Given the description of an element on the screen output the (x, y) to click on. 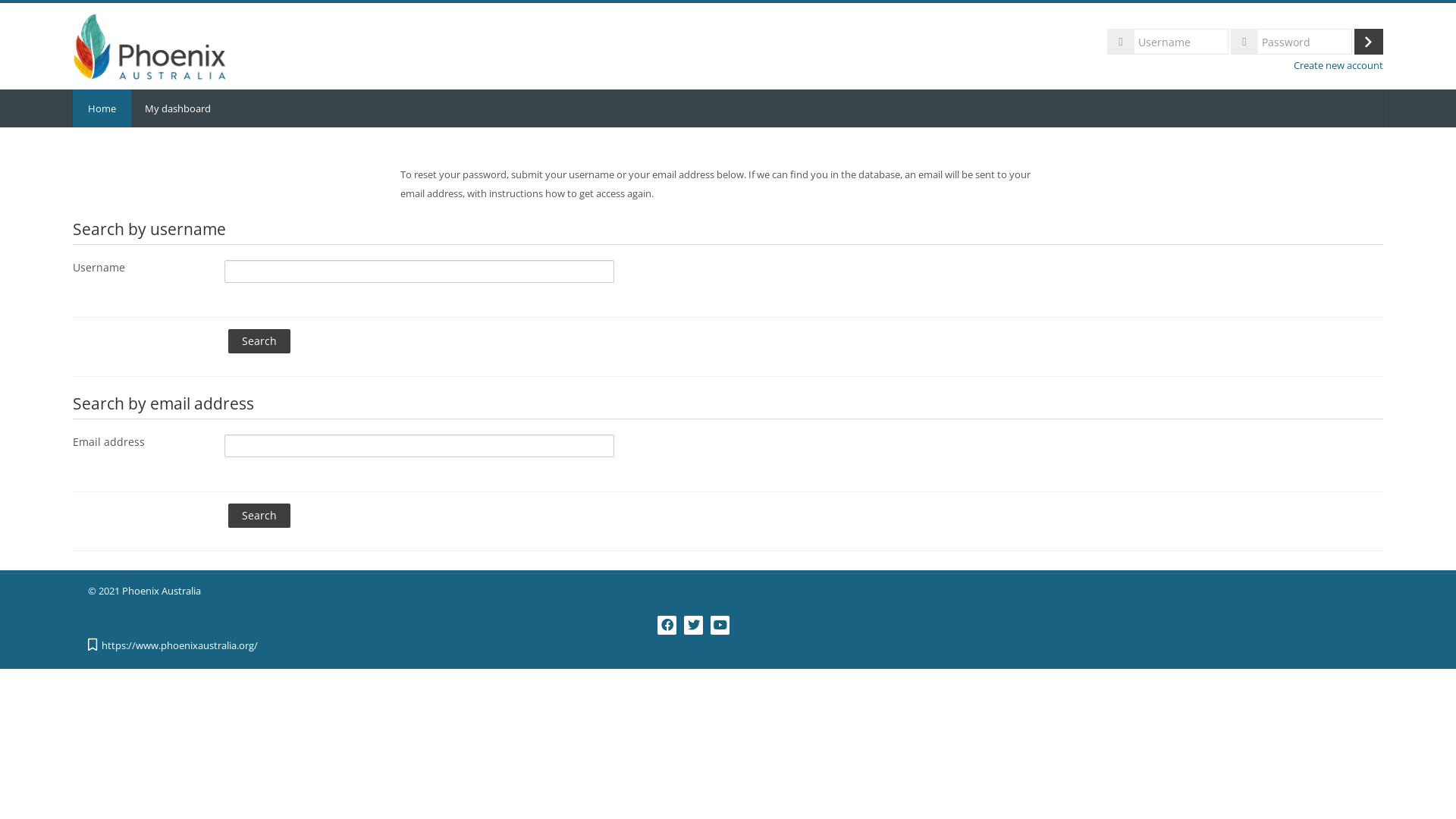
Search Element type: text (259, 341)
Log in Element type: text (1368, 41)
Create new account Element type: text (1338, 65)
https://www.phoenixaustralia.org/ Element type: text (185, 645)
Search Element type: text (259, 515)
Home Element type: text (101, 108)
Home Element type: hover (148, 44)
My dashboard Element type: text (177, 108)
